Given the description of an element on the screen output the (x, y) to click on. 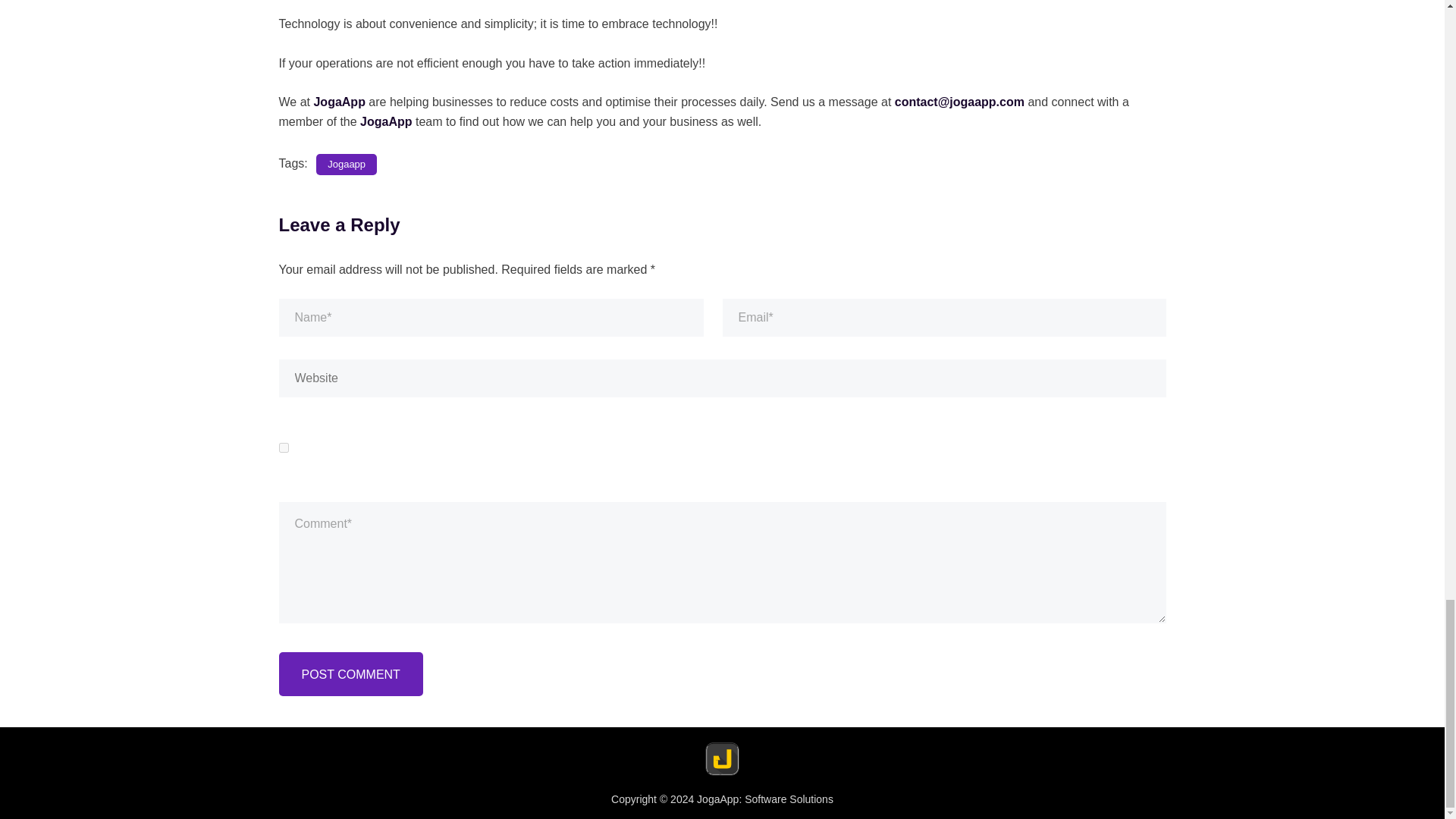
Post Comment (351, 673)
JogaApp (339, 101)
Post Comment (351, 673)
Jogaapp (346, 164)
yes (283, 447)
JogaApp (385, 121)
